Given the description of an element on the screen output the (x, y) to click on. 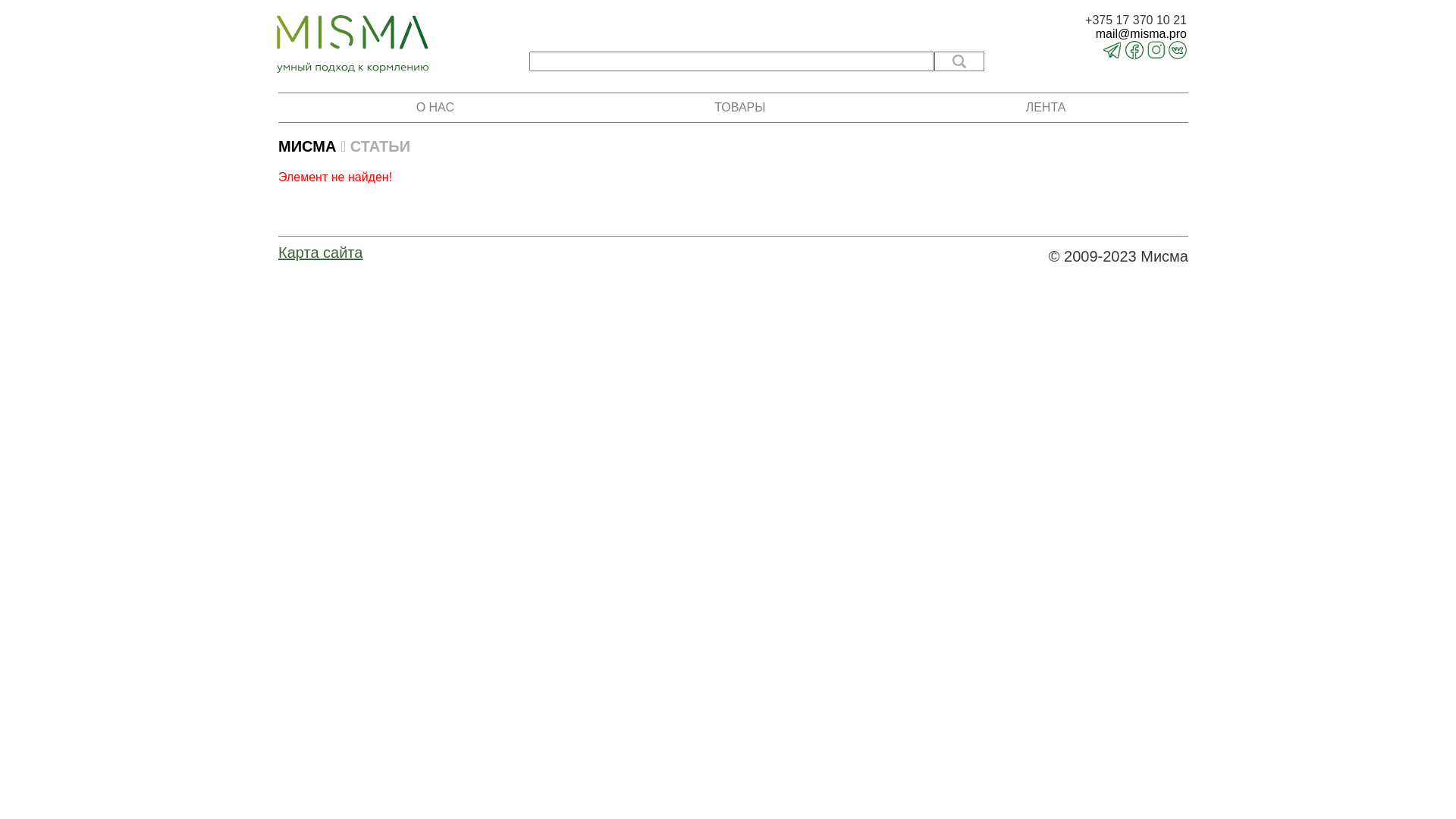
mail@misma.pro Element type: text (1135, 33)
Telegram Element type: hover (1112, 54)
